Given the description of an element on the screen output the (x, y) to click on. 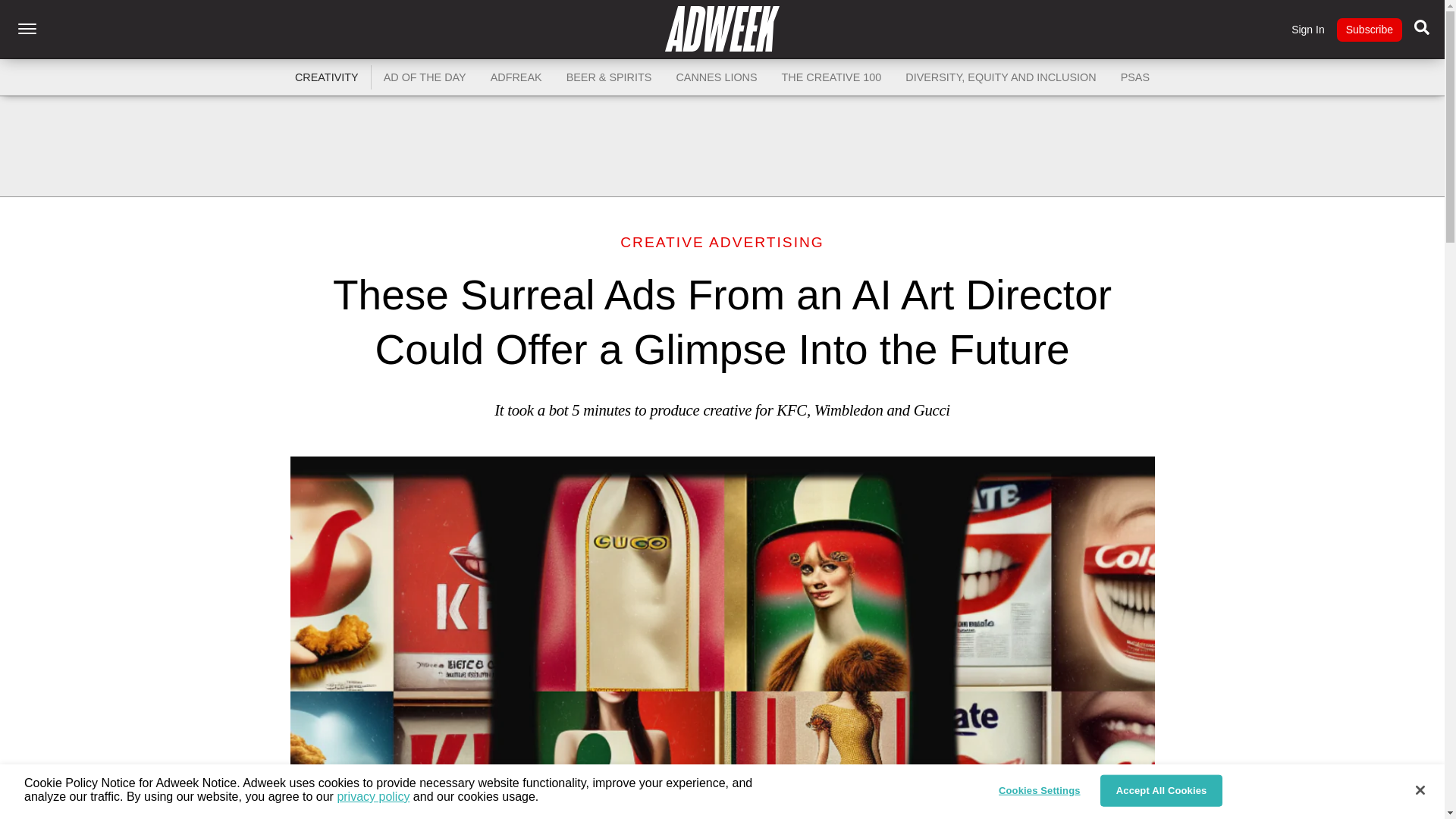
DIVERSITY, EQUITY AND INCLUSION (1000, 77)
Sign In (1307, 29)
AD OF THE DAY (425, 77)
ADFREAK (516, 77)
PSAS (1134, 77)
CREATIVE ADVERTISING (722, 242)
Subscribe (1369, 29)
THE CREATIVE 100 (831, 77)
CANNES LIONS (715, 77)
CREATIVITY (326, 77)
Toggle Main Menu (26, 28)
3rd party ad content (721, 146)
